Given the description of an element on the screen output the (x, y) to click on. 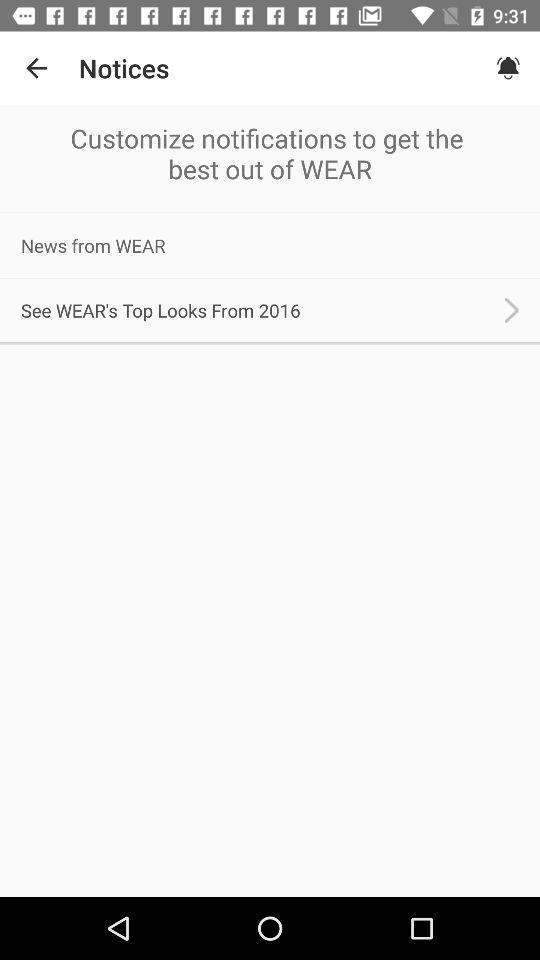
tap item above customize notifications to item (508, 67)
